Given the description of an element on the screen output the (x, y) to click on. 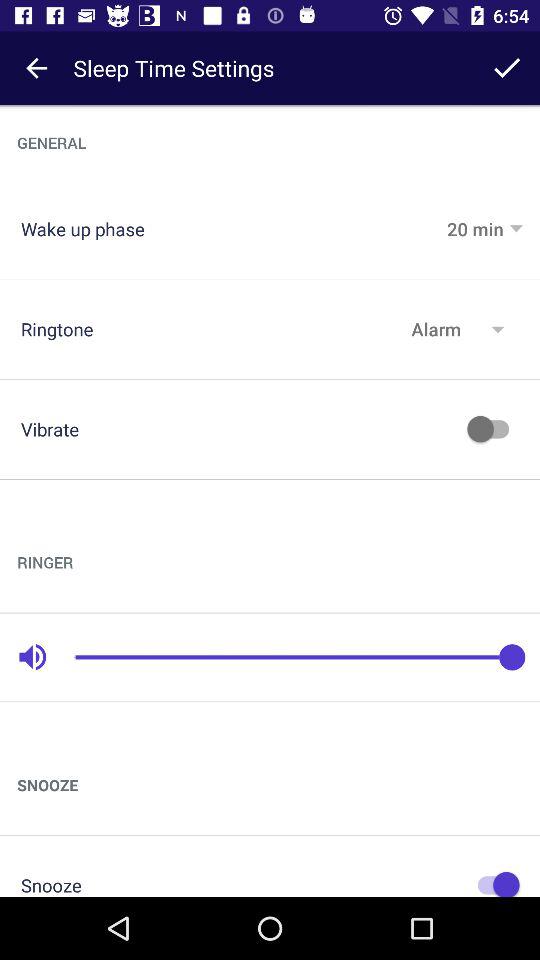
back (36, 68)
